Given the description of an element on the screen output the (x, y) to click on. 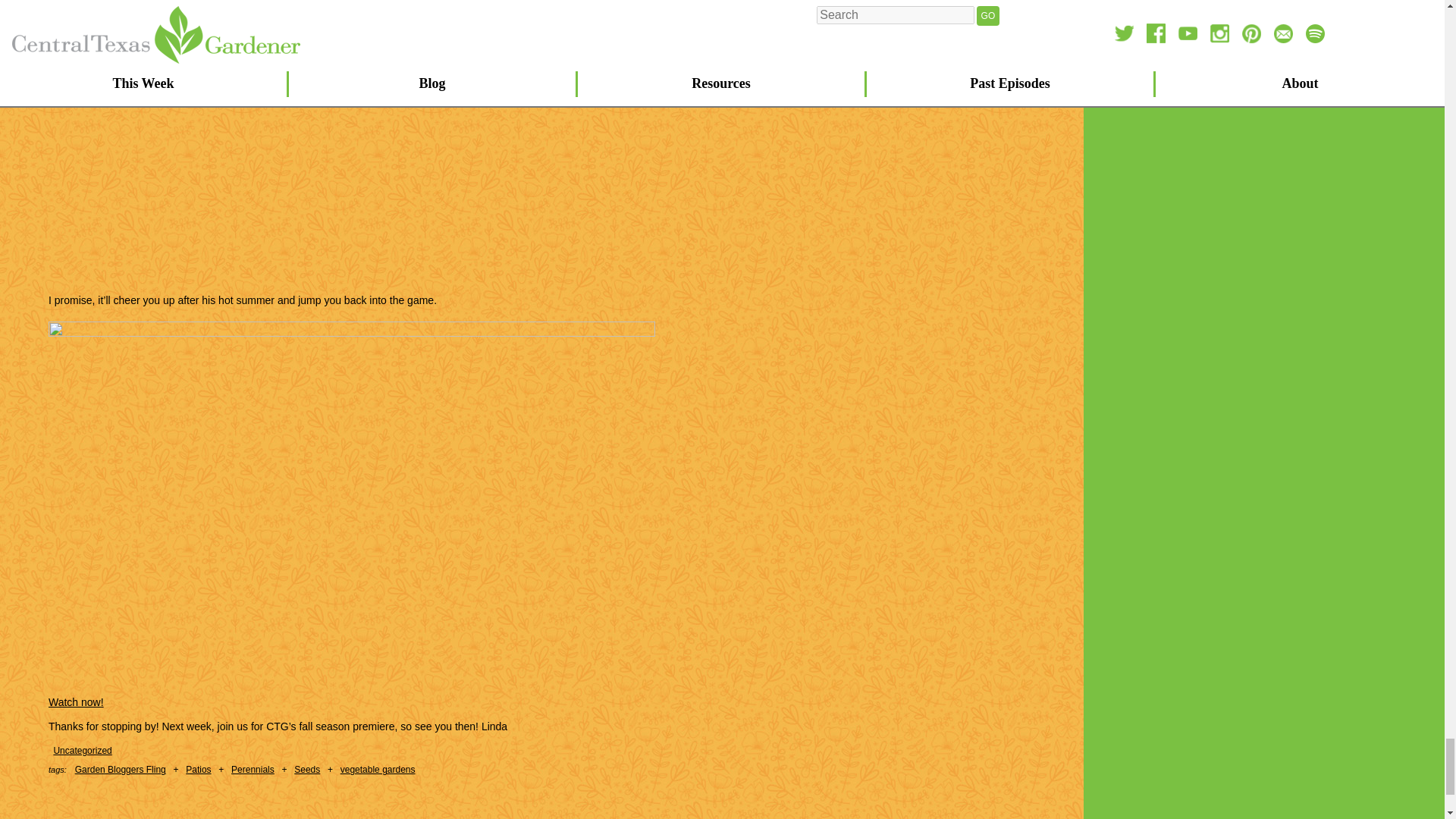
Garden Bloggers Fling (120, 769)
Uncategorized (82, 750)
Watch now! (75, 702)
Perennials (253, 769)
Seeds (307, 769)
Patios (198, 769)
vegetable gardens (377, 769)
